Given the description of an element on the screen output the (x, y) to click on. 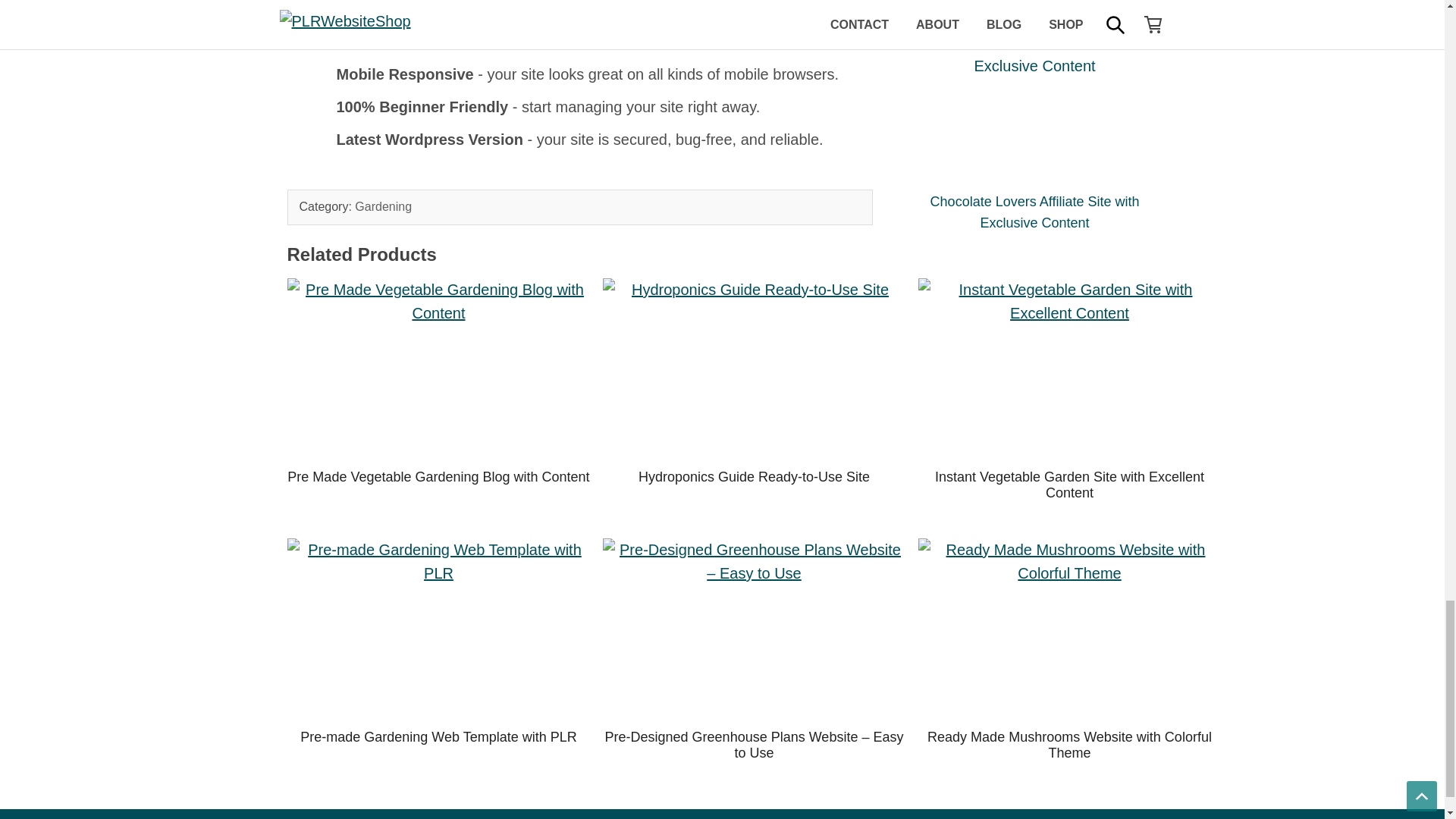
Instant Vegetable Garden Site with Excellent Content (1069, 369)
Pre-made Gardening Web Template with PLR (437, 629)
Pre Made Vegetable Gardening Blog with Content (437, 369)
Ready Made Mushrooms Website with Colorful Theme (1069, 629)
Hydroponics Guide Ready-to-Use Site (753, 369)
Pre-made Gardening Web Template with PLR (437, 736)
Hydroponics Guide Ready-to-Use Site (754, 476)
Instant Vegetable Garden Site with Excellent Content (1069, 485)
Gardening (383, 205)
Pre Made Vegetable Gardening Blog with Content (437, 476)
